Given the description of an element on the screen output the (x, y) to click on. 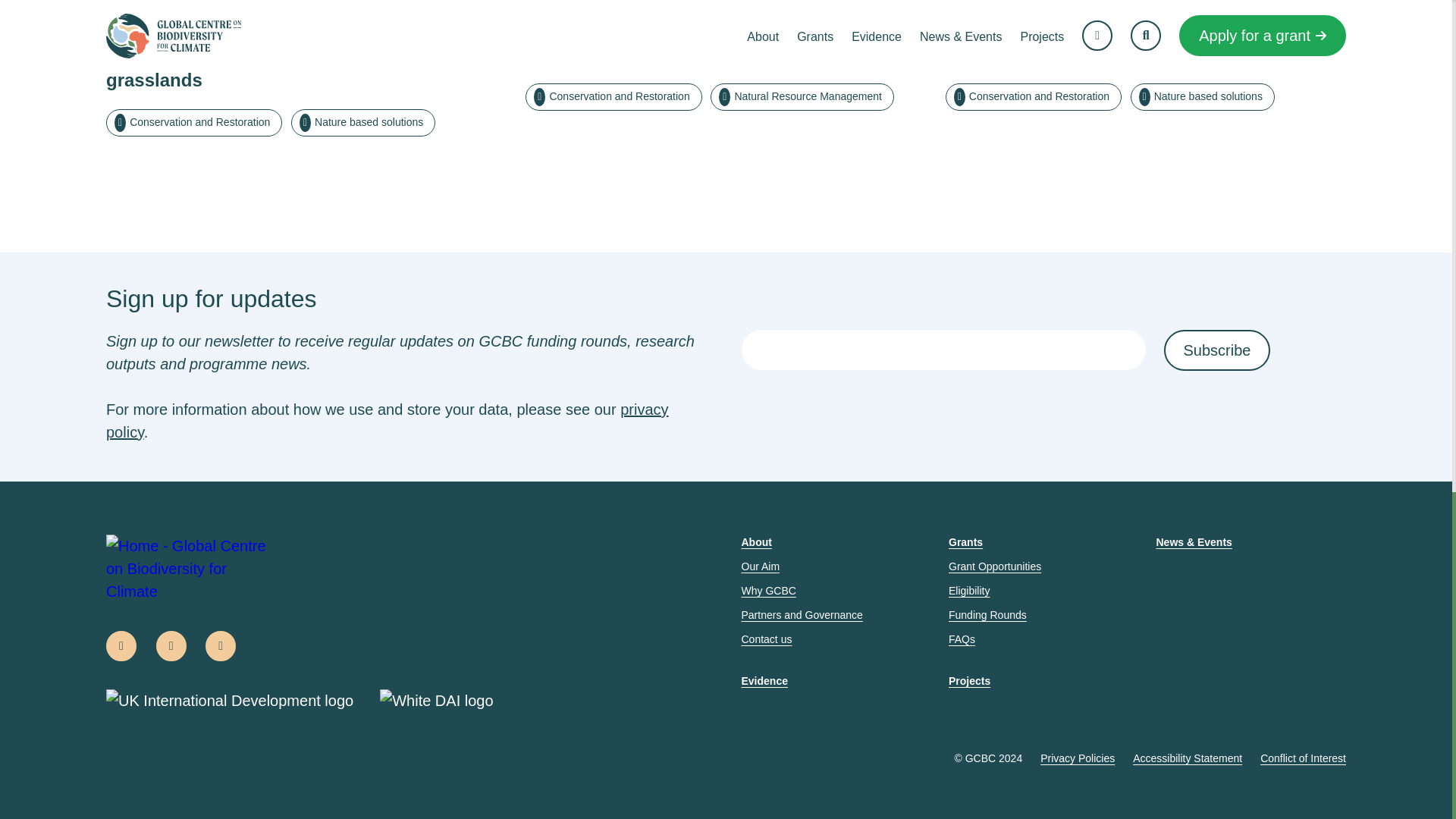
Following the Water (725, 54)
Conservation and Restoration (194, 122)
Conservation and Restoration (613, 96)
Subscribe (1216, 350)
Nature based solutions (363, 122)
Natural Resource Management (801, 96)
